Given the description of an element on the screen output the (x, y) to click on. 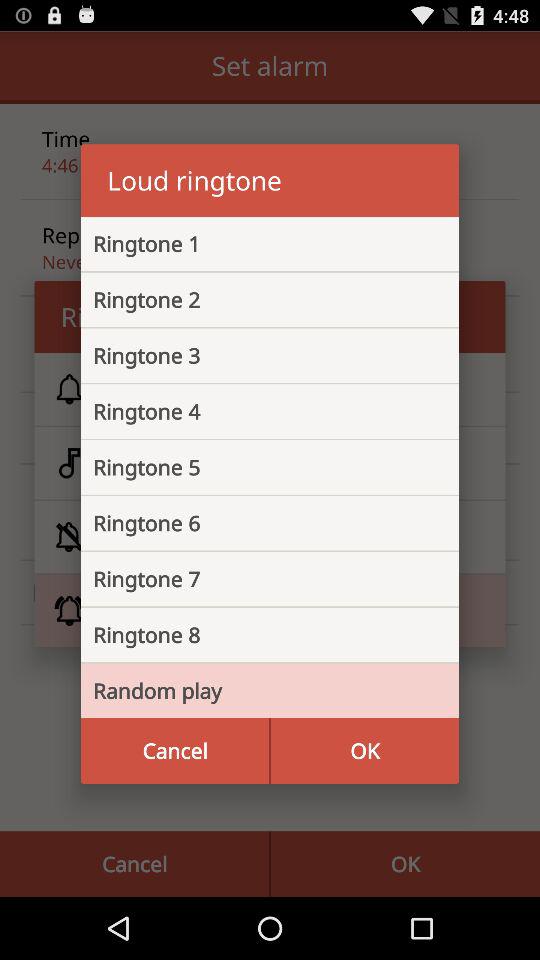
jump to the ringtone 8 item (254, 635)
